Given the description of an element on the screen output the (x, y) to click on. 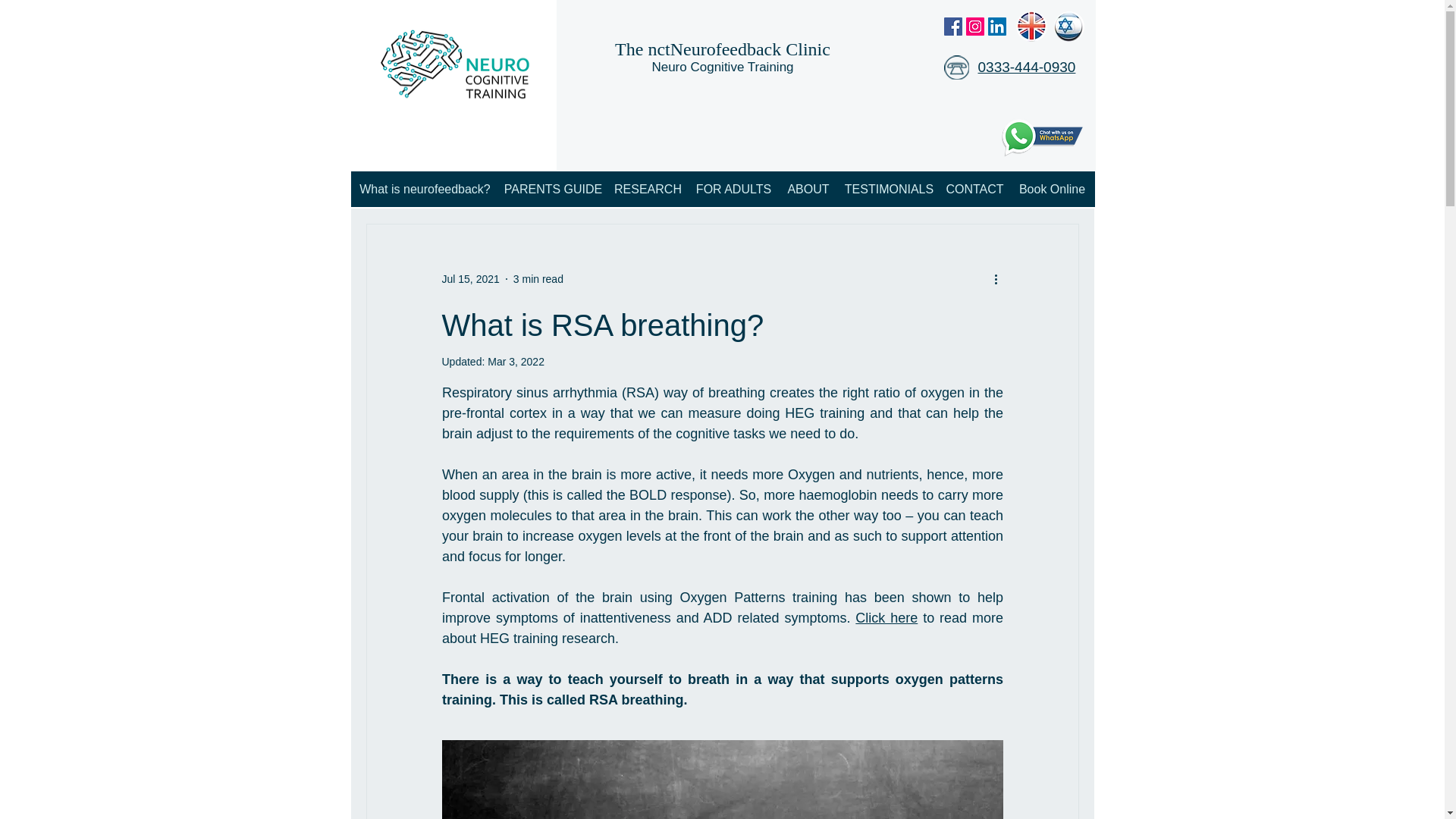
The nctNeurofeedback Clinic (721, 48)
Click here (886, 617)
What is neurofeedback? (424, 189)
Jul 15, 2021 (470, 278)
0333-444-0930 (1026, 66)
CONTACT (975, 189)
Neuro Cognitive Training (721, 66)
RESEARCH (647, 189)
TESTIMONIALS (889, 189)
Mar 3, 2022 (515, 361)
